Given the description of an element on the screen output the (x, y) to click on. 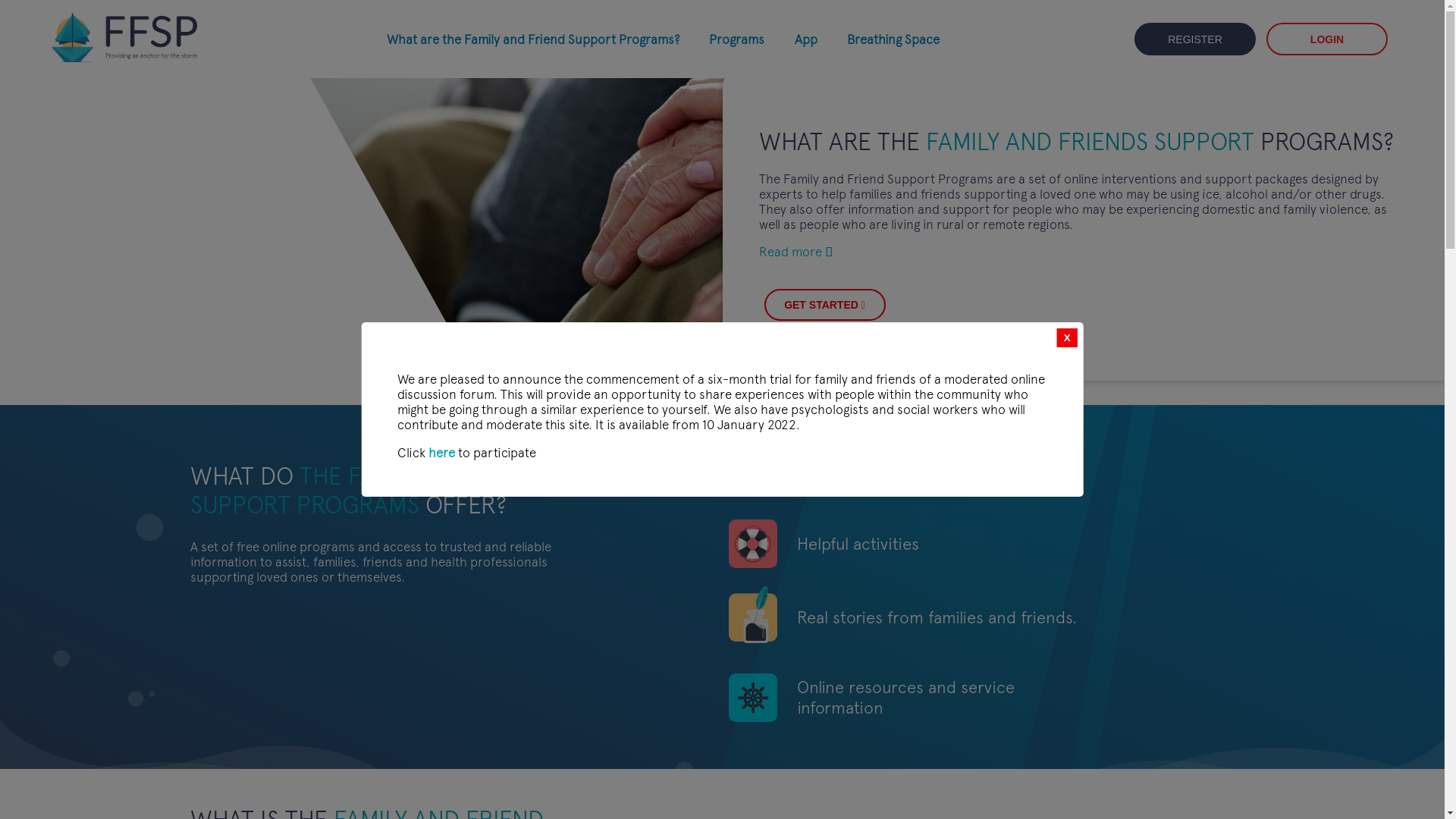
Breathing Space Element type: text (893, 39)
What are the Family and Friend Support Programs? Element type: text (532, 39)
LOGIN Element type: text (1327, 38)
REGISTER Element type: text (1194, 38)
X Element type: text (1067, 337)
App Element type: text (805, 39)
REGISTER Element type: text (1195, 38)
 here  Element type: text (441, 452)
LOGIN Element type: text (1326, 38)
Programs Element type: text (736, 39)
